Given the description of an element on the screen output the (x, y) to click on. 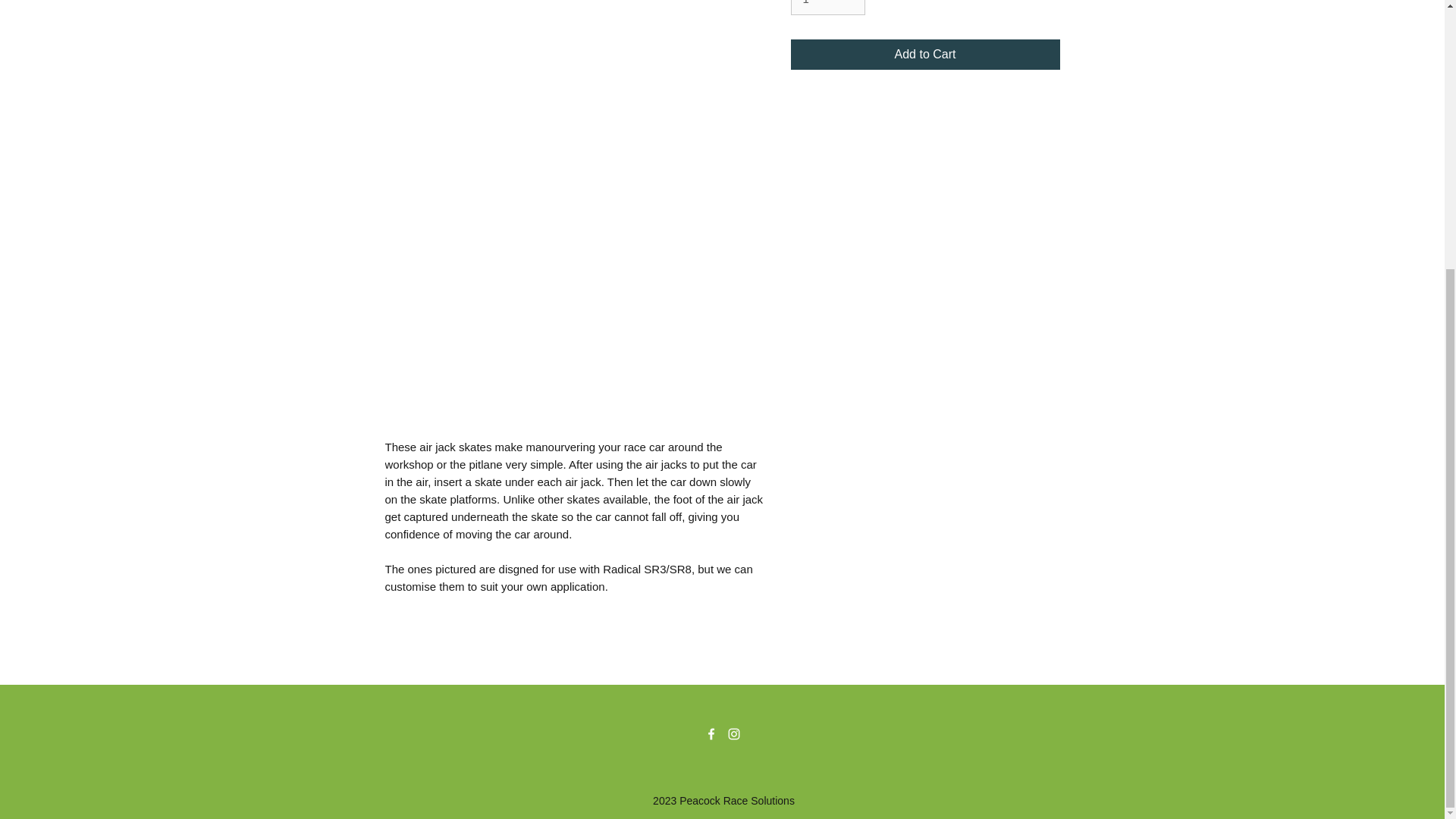
Add to Cart (924, 54)
1 (827, 7)
